Given the description of an element on the screen output the (x, y) to click on. 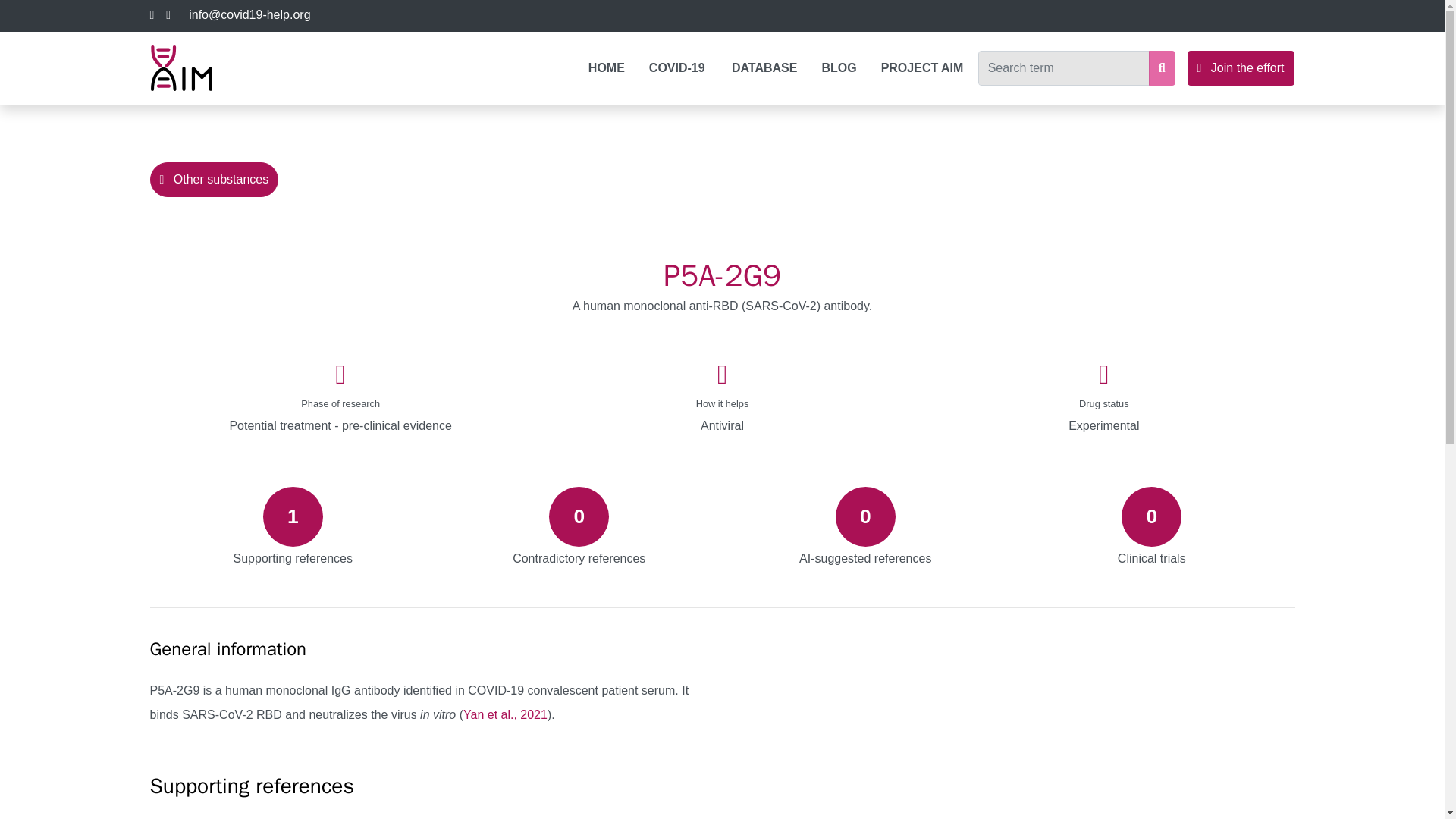
LinkedIn (167, 15)
1 (292, 525)
0 (1152, 525)
Join the effort (1241, 67)
Other substances (214, 179)
AIM (180, 67)
COVID-19 (678, 67)
BLOG (838, 67)
Yan et al., 2021 (505, 714)
PROJECT AIM (923, 67)
0 (865, 525)
HOME (606, 67)
DATABASE (764, 67)
0 (578, 525)
Facebook (151, 15)
